Given the description of an element on the screen output the (x, y) to click on. 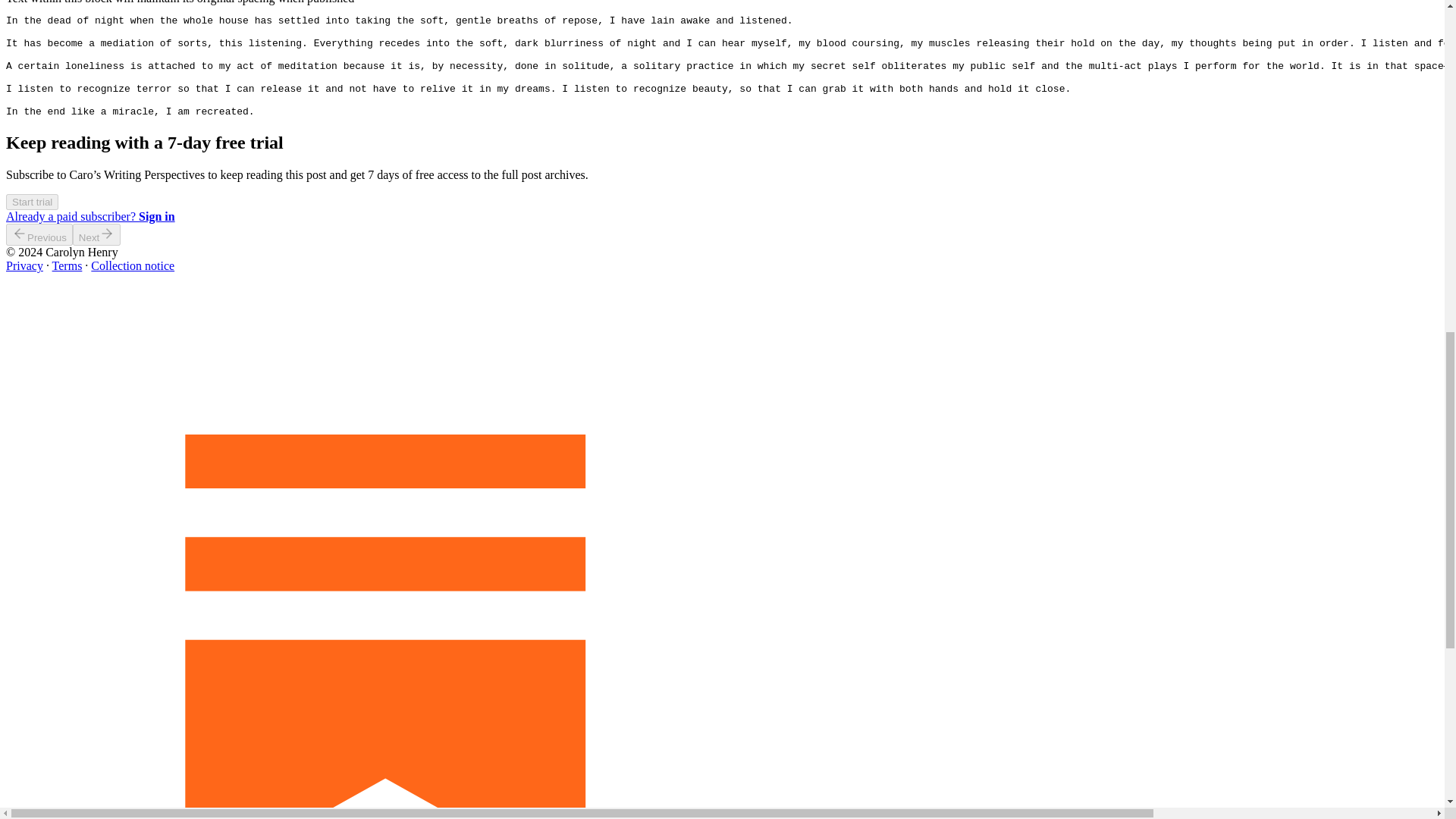
Start trial (31, 201)
Already a paid subscriber? Sign in (89, 215)
Privacy (24, 265)
Terms (67, 265)
Next (96, 234)
Start trial (31, 201)
Previous (38, 234)
Collection notice (132, 265)
